Given the description of an element on the screen output the (x, y) to click on. 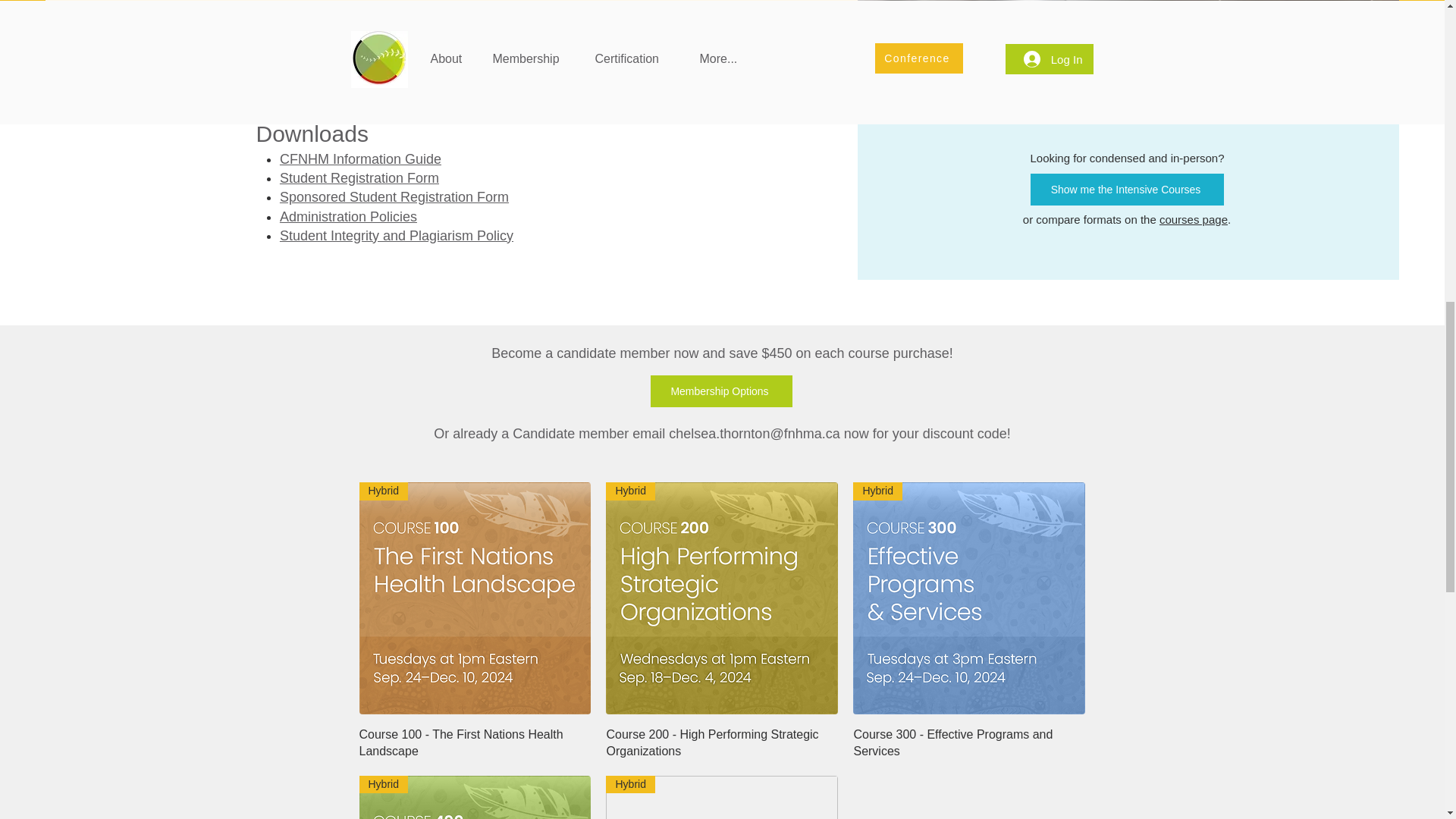
Course 100 - The First Nations Health Landscape (475, 743)
CFNHM Information Guide (360, 159)
courses page (1192, 219)
Student Integrity and Plagiarism Policy (396, 235)
Hybrid (721, 598)
Course 200 - High Performing Strategic Organizations (721, 743)
Show me the Intensive Courses (1127, 189)
Student Registration Form (359, 177)
Hybrid (475, 598)
Administration Policies (347, 216)
